Given the description of an element on the screen output the (x, y) to click on. 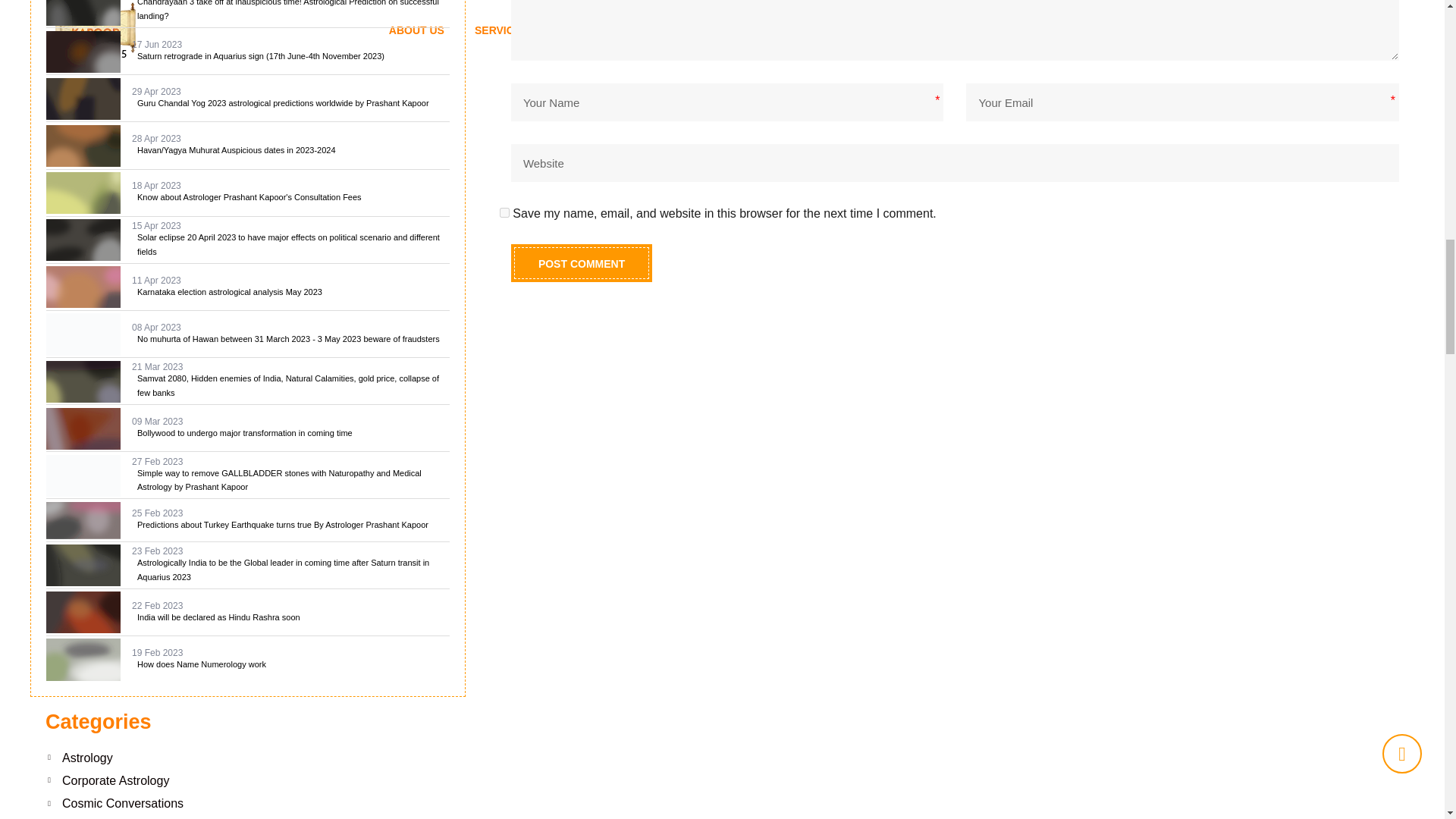
yes (504, 212)
Post Comment (581, 262)
